Given the description of an element on the screen output the (x, y) to click on. 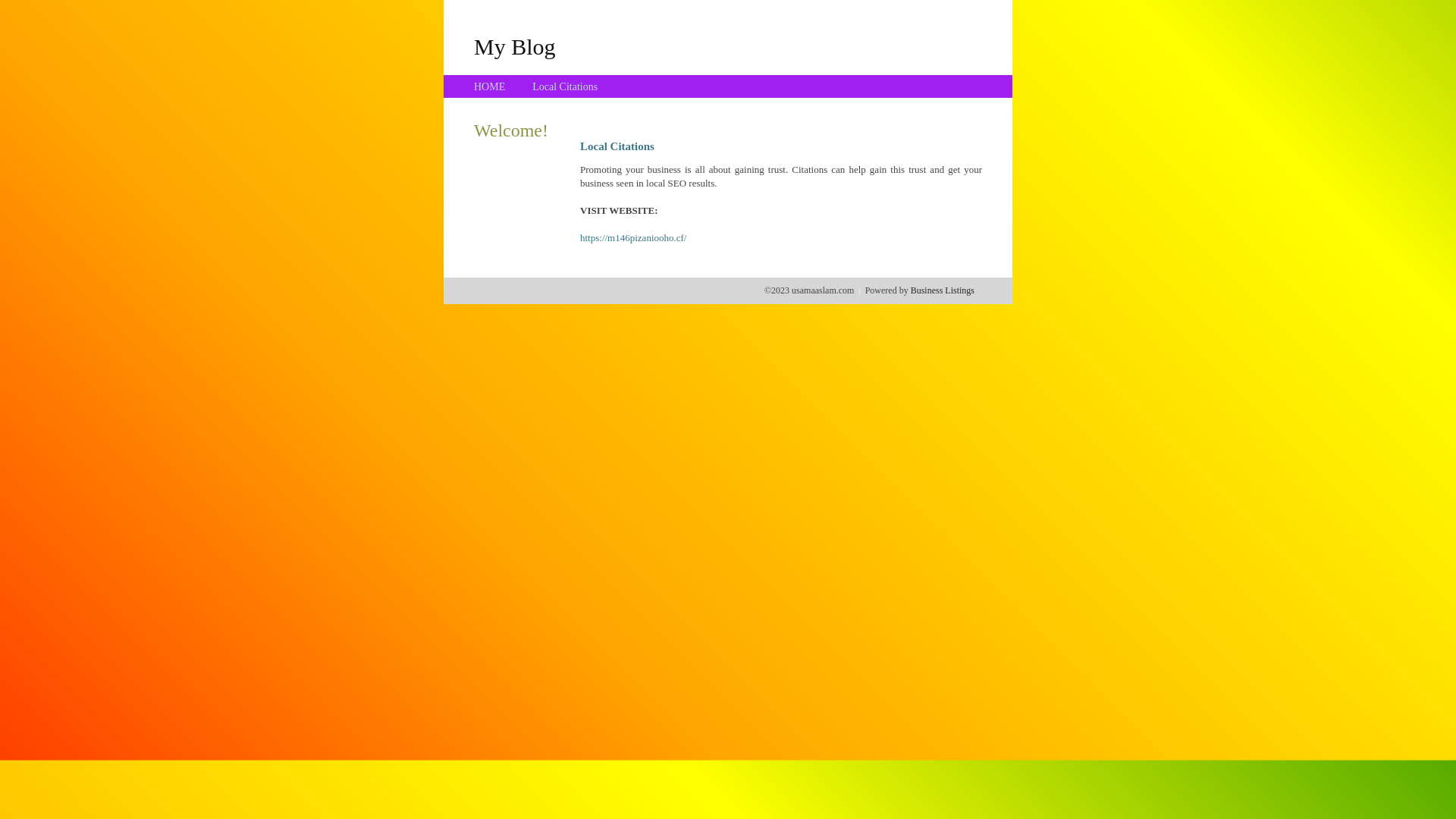
https://m146pizaniooho.cf/ Element type: text (633, 237)
My Blog Element type: text (514, 46)
Business Listings Element type: text (942, 290)
HOME Element type: text (489, 86)
Local Citations Element type: text (564, 86)
